Given the description of an element on the screen output the (x, y) to click on. 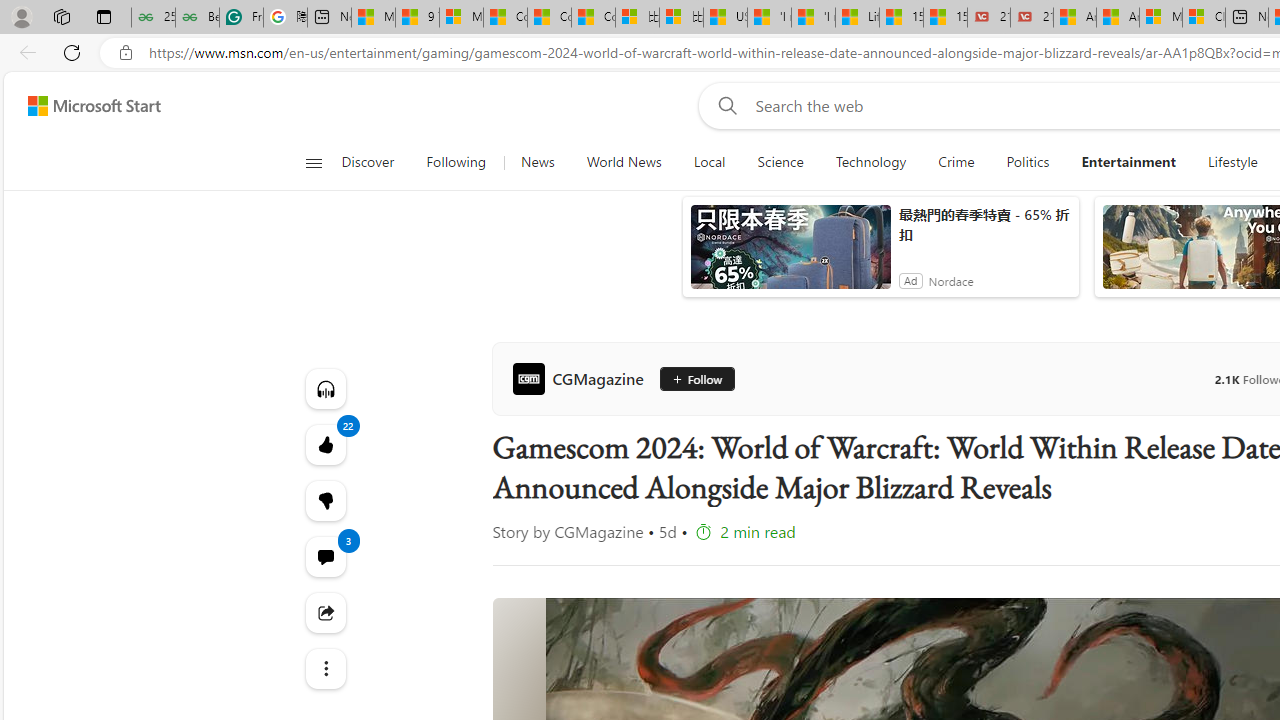
Technology (870, 162)
Science (779, 162)
Class: at-item (324, 668)
Microsoft Services Agreement (1160, 17)
CGMagazine (581, 378)
Politics (1027, 162)
Crime (955, 162)
Skip to footer (82, 105)
22 (324, 500)
World News (623, 162)
Skip to content (86, 105)
